Given the description of an element on the screen output the (x, y) to click on. 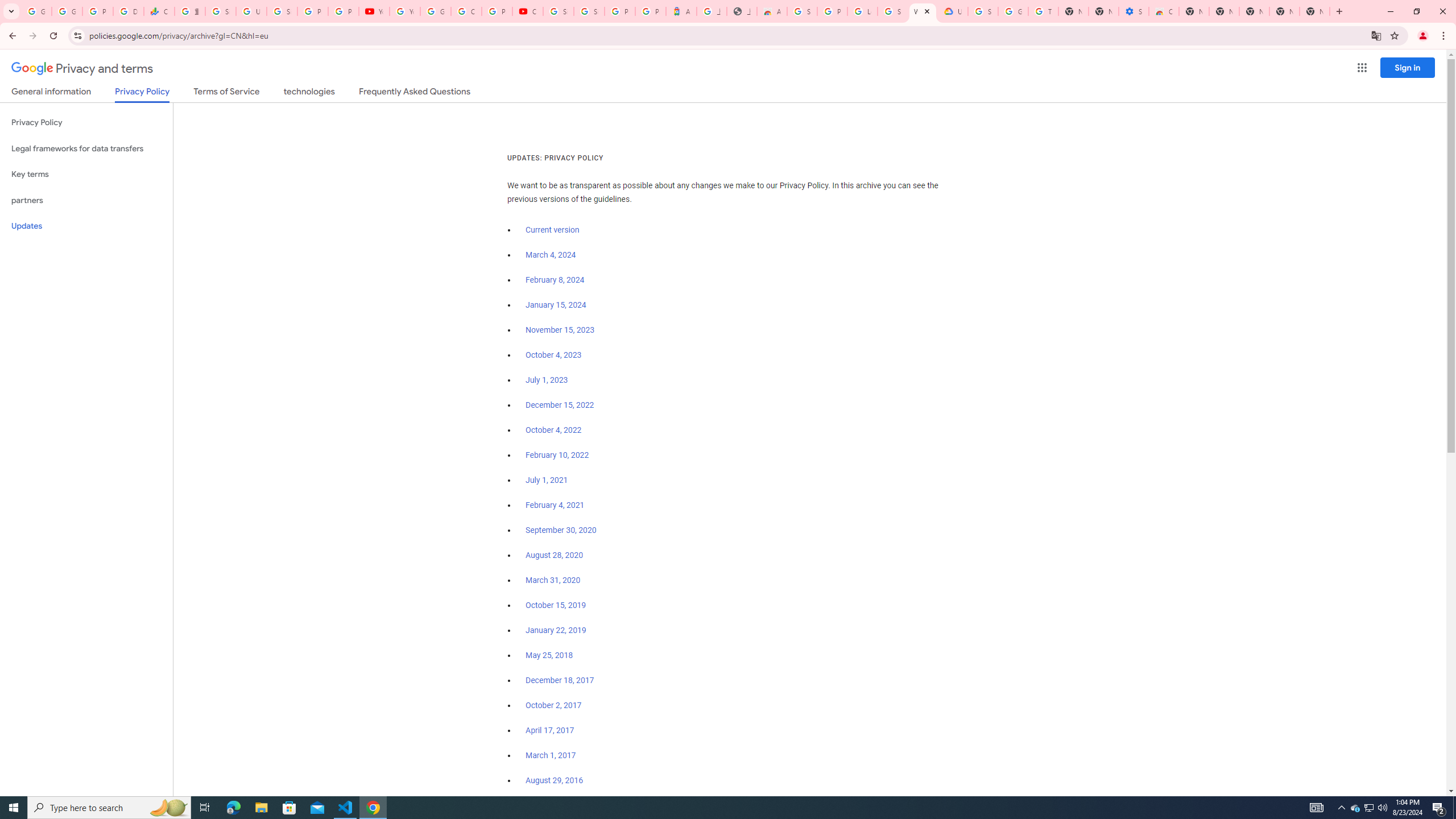
September 30, 2020 (560, 530)
Address and search bar (726, 35)
October 2, 2017 (553, 705)
Currencies - Google Finance (158, 11)
technologies (308, 93)
Atour Hotel - Google hotels (681, 11)
July 1, 2023 (546, 380)
Bookmark this tab (1393, 35)
partners (86, 199)
January 22, 2019 (555, 629)
Legal frameworks for data transfers (86, 148)
